Given the description of an element on the screen output the (x, y) to click on. 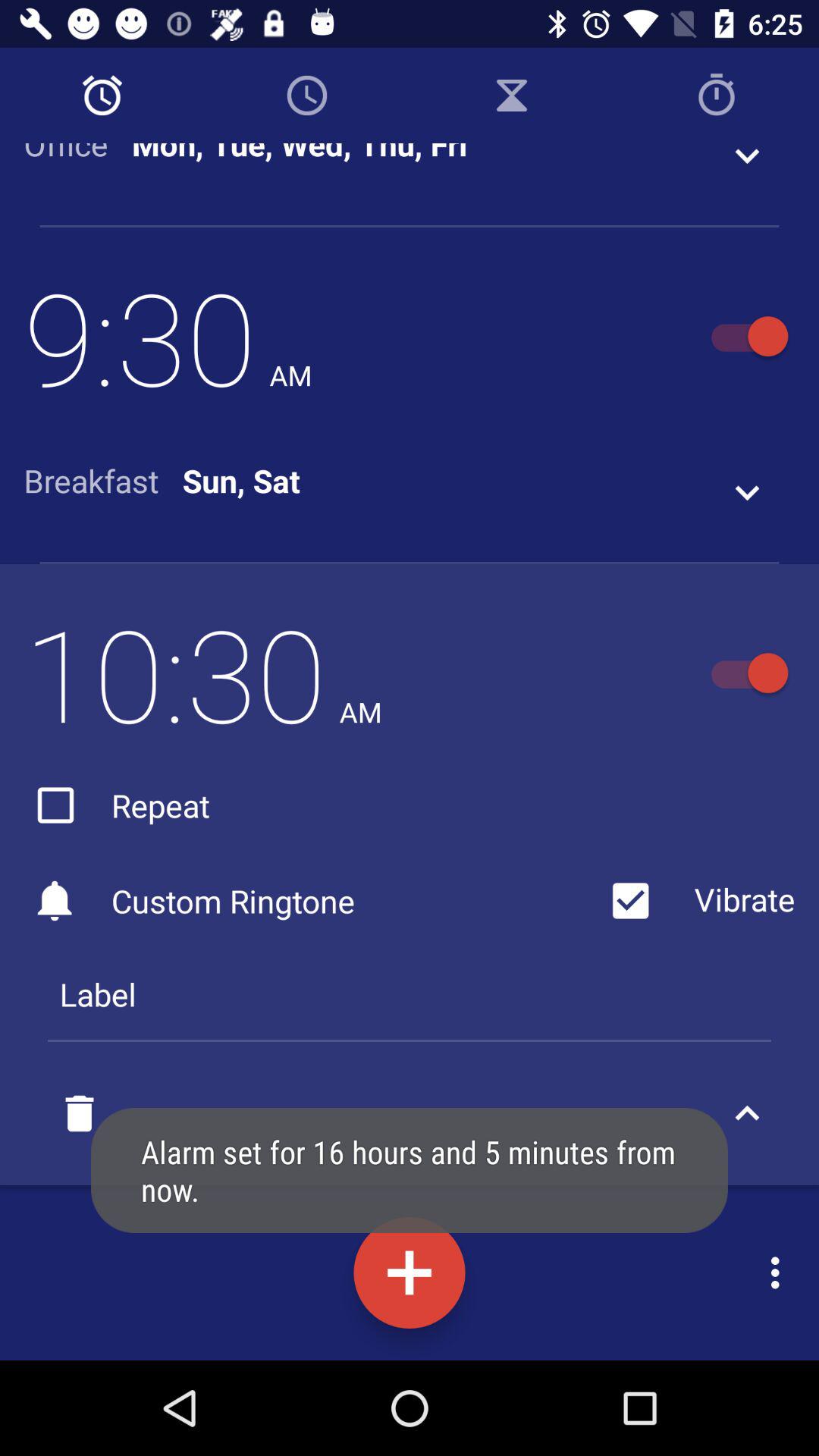
turn off icon to the left of vibrate (116, 805)
